Given the description of an element on the screen output the (x, y) to click on. 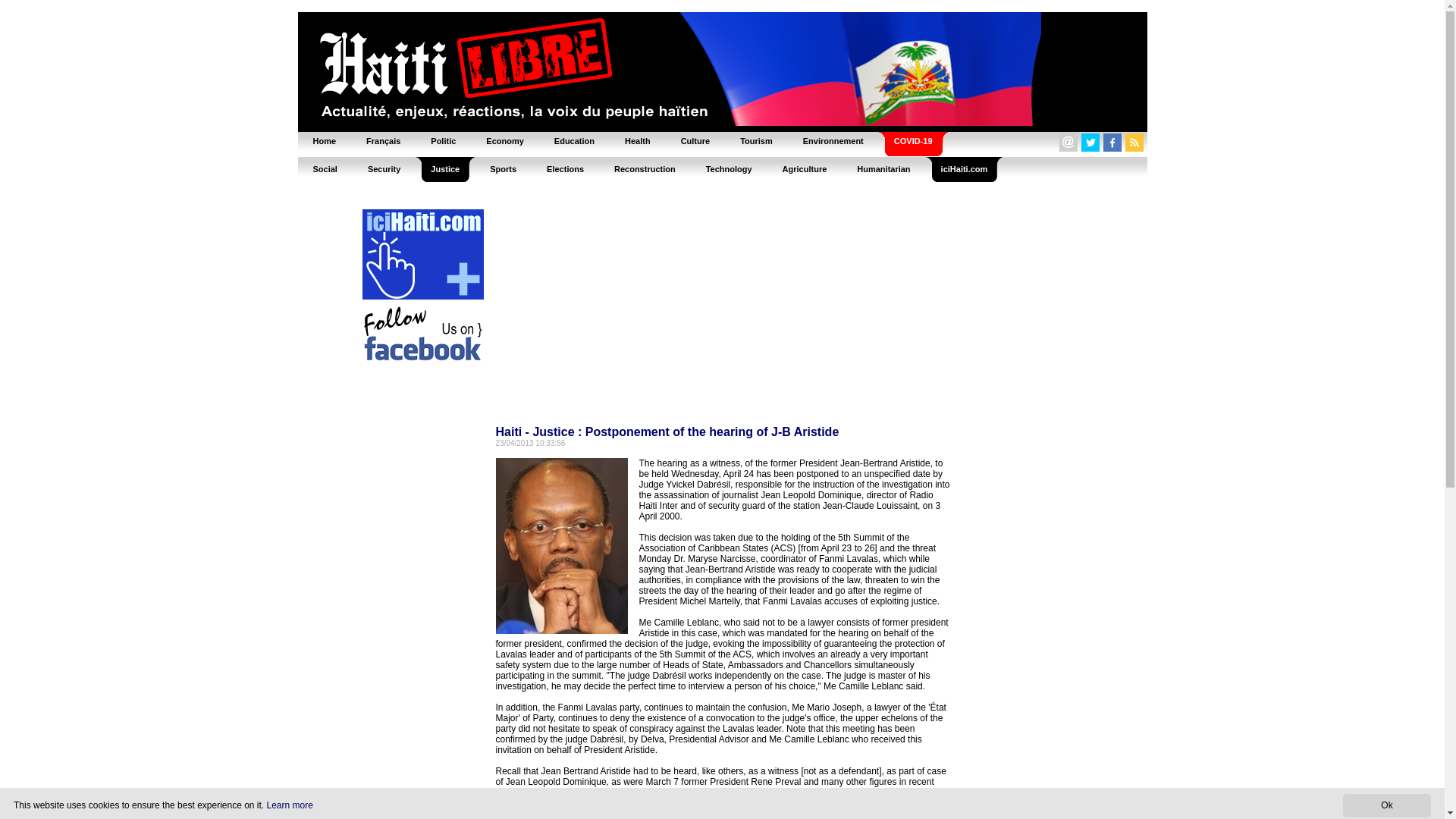
Tourism (756, 141)
Security (383, 168)
Security (383, 168)
Environnement (833, 141)
Politic (442, 141)
Health (637, 141)
Home (323, 141)
Economy (504, 141)
Tourism (756, 141)
COVID-19 (913, 141)
Elections (564, 168)
Reconstruction (644, 168)
iciHaiti.com (964, 168)
Social (324, 168)
Justice (444, 168)
